Given the description of an element on the screen output the (x, y) to click on. 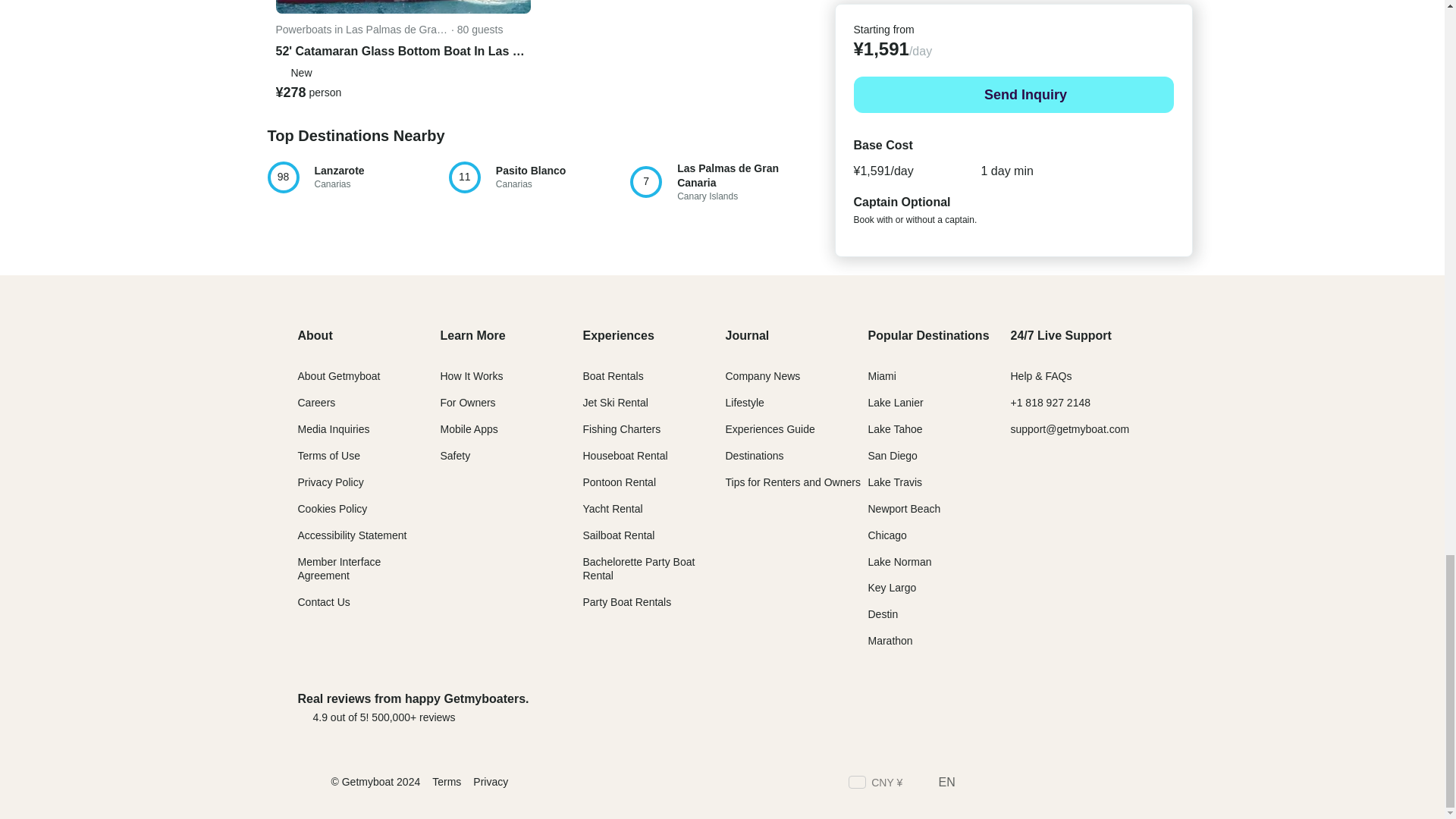
Twitter (1002, 784)
Boat Rentals (612, 376)
Privacy Policy (329, 481)
Cookies Policy (331, 508)
Contact Us (323, 602)
Accessibility Statement (356, 177)
Download on the App Store (351, 535)
For Owners (977, 707)
Experiences (467, 402)
